Given the description of an element on the screen output the (x, y) to click on. 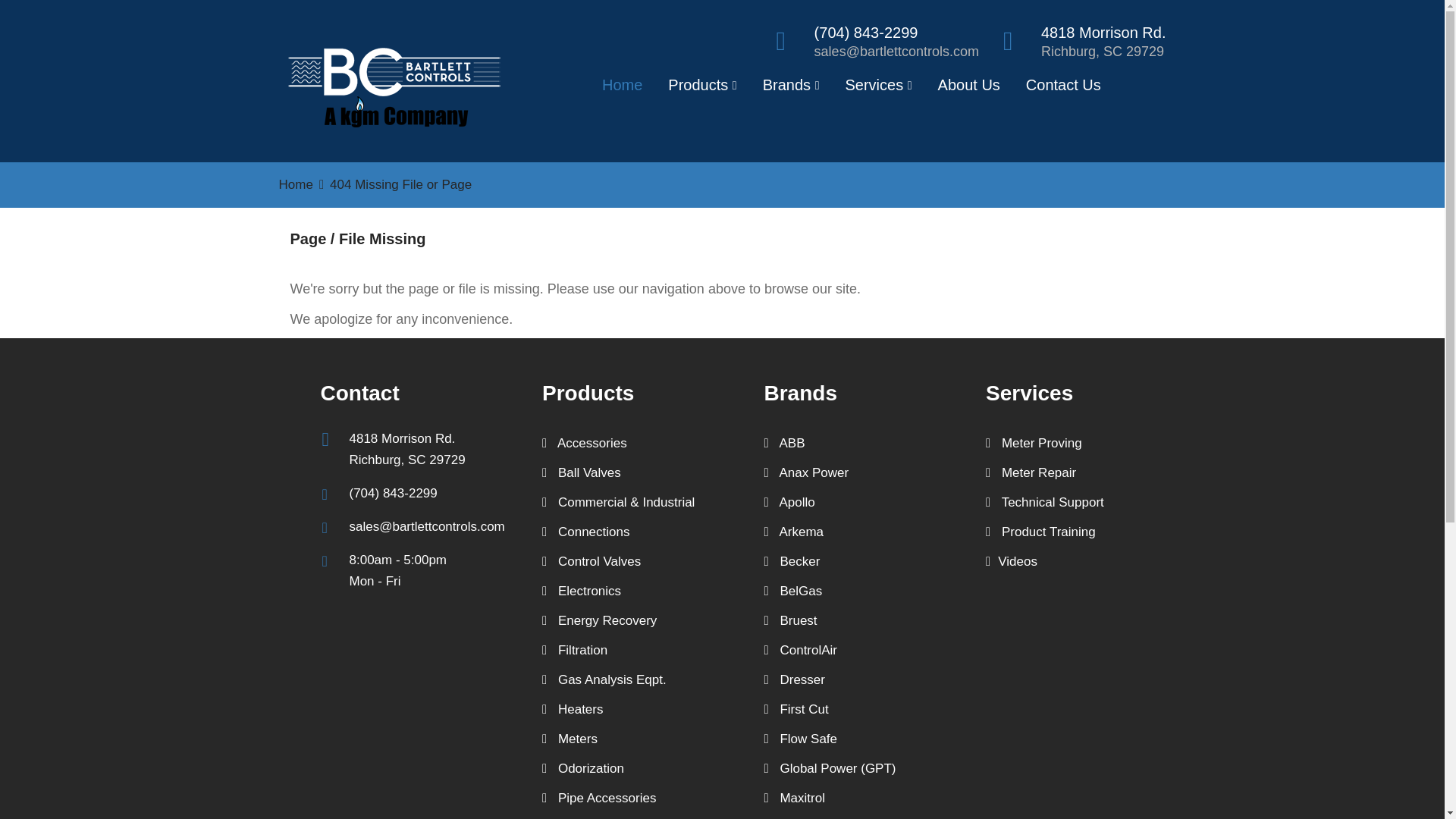
Home (621, 90)
Brands (791, 90)
Products (702, 90)
